Given the description of an element on the screen output the (x, y) to click on. 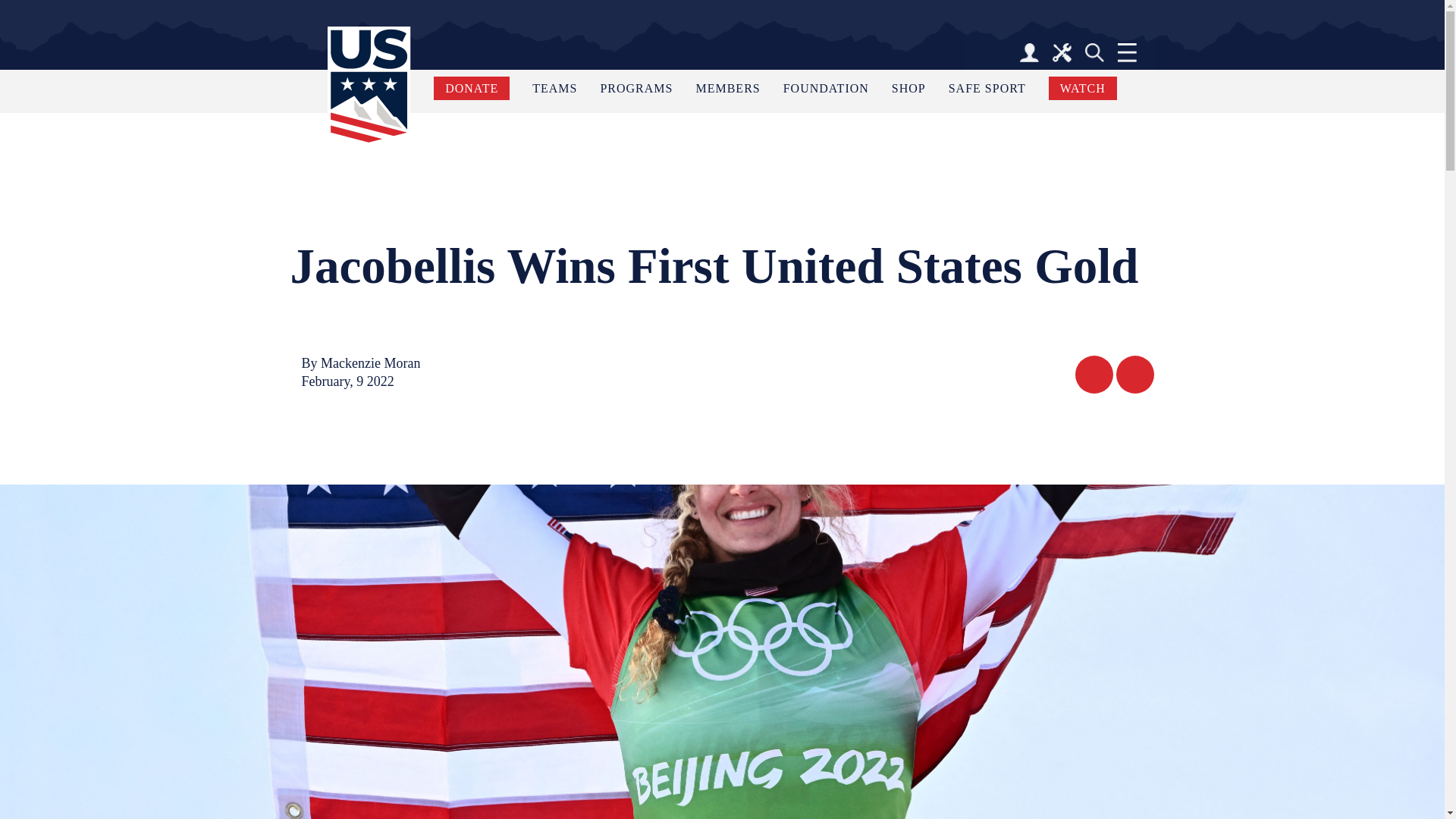
FOUNDATION (826, 88)
WATCH (1082, 88)
DONATE (471, 88)
TEAMS (554, 88)
PROGRAMS (635, 88)
MEMBERS (727, 88)
SAFE SPORT (987, 88)
SHOP (908, 88)
Programs (635, 88)
